Given the description of an element on the screen output the (x, y) to click on. 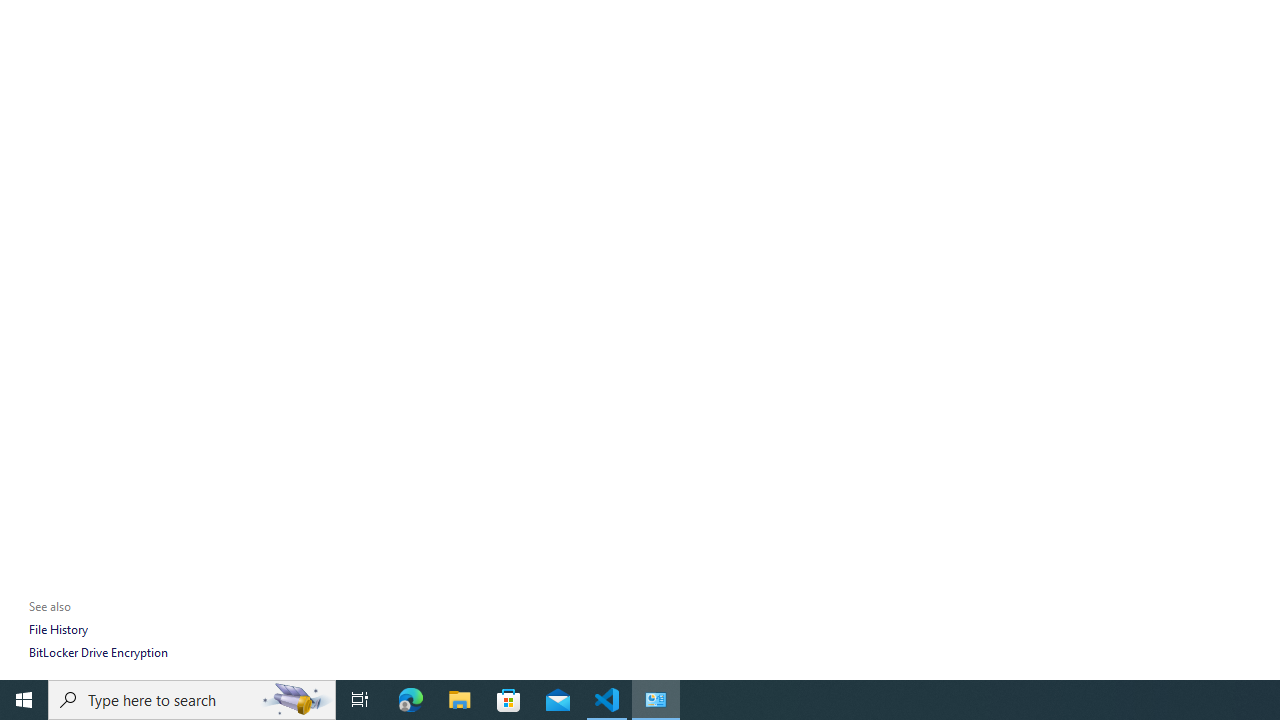
File History (57, 629)
BitLocker Drive Encryption (98, 652)
Control Panel - 1 running window (656, 699)
